Given the description of an element on the screen output the (x, y) to click on. 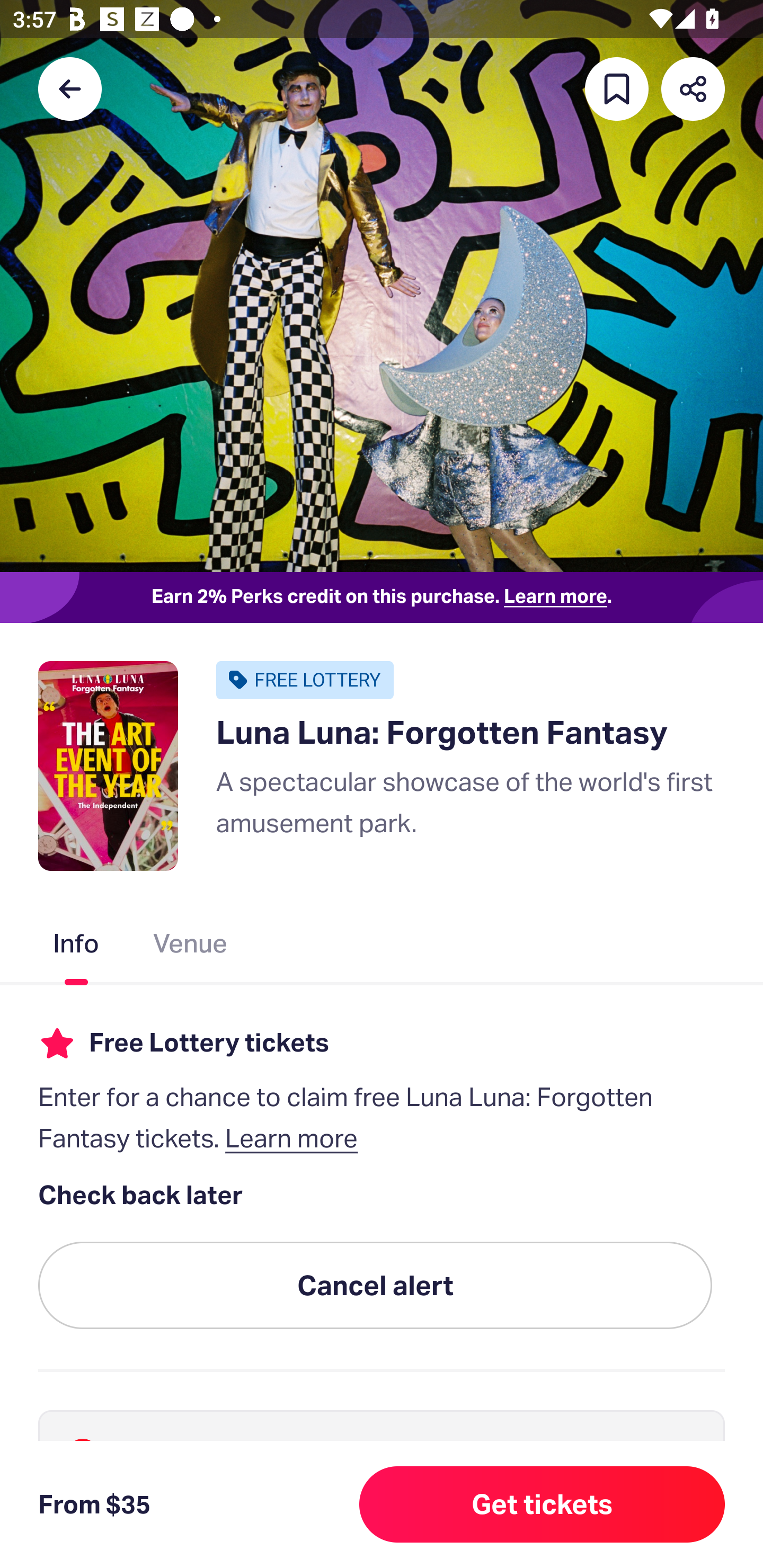
Earn 2% Perks credit on this purchase. Learn more. (381, 597)
Venue (190, 946)
Cancel alert (374, 1286)
Get tickets (541, 1504)
